Given the description of an element on the screen output the (x, y) to click on. 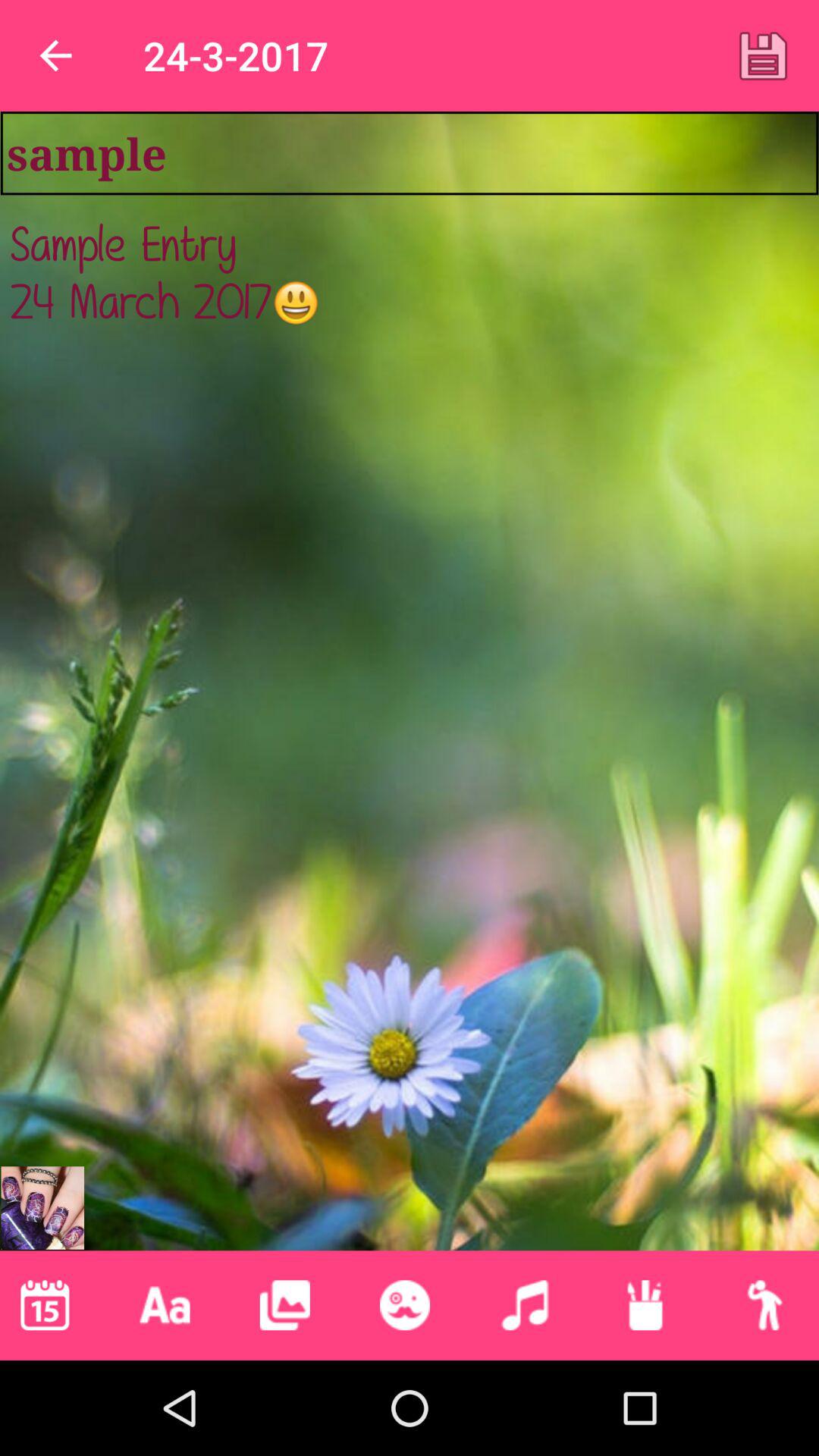
launch item above the sample item (55, 55)
